Given the description of an element on the screen output the (x, y) to click on. 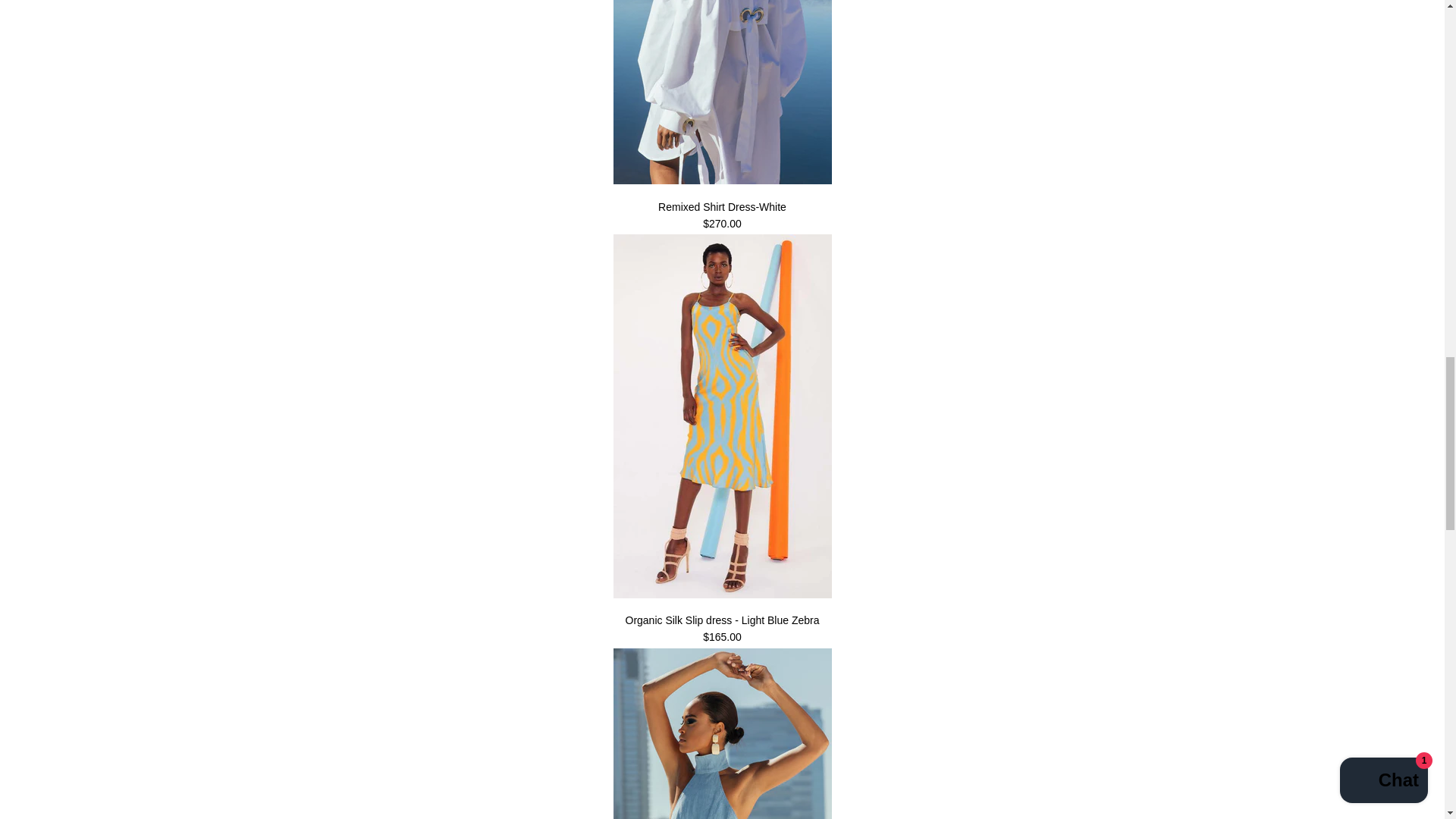
Organic Silk Slip dress - Light Blue Zebra (721, 594)
Remixed Shirt Dress-White (721, 180)
